Given the description of an element on the screen output the (x, y) to click on. 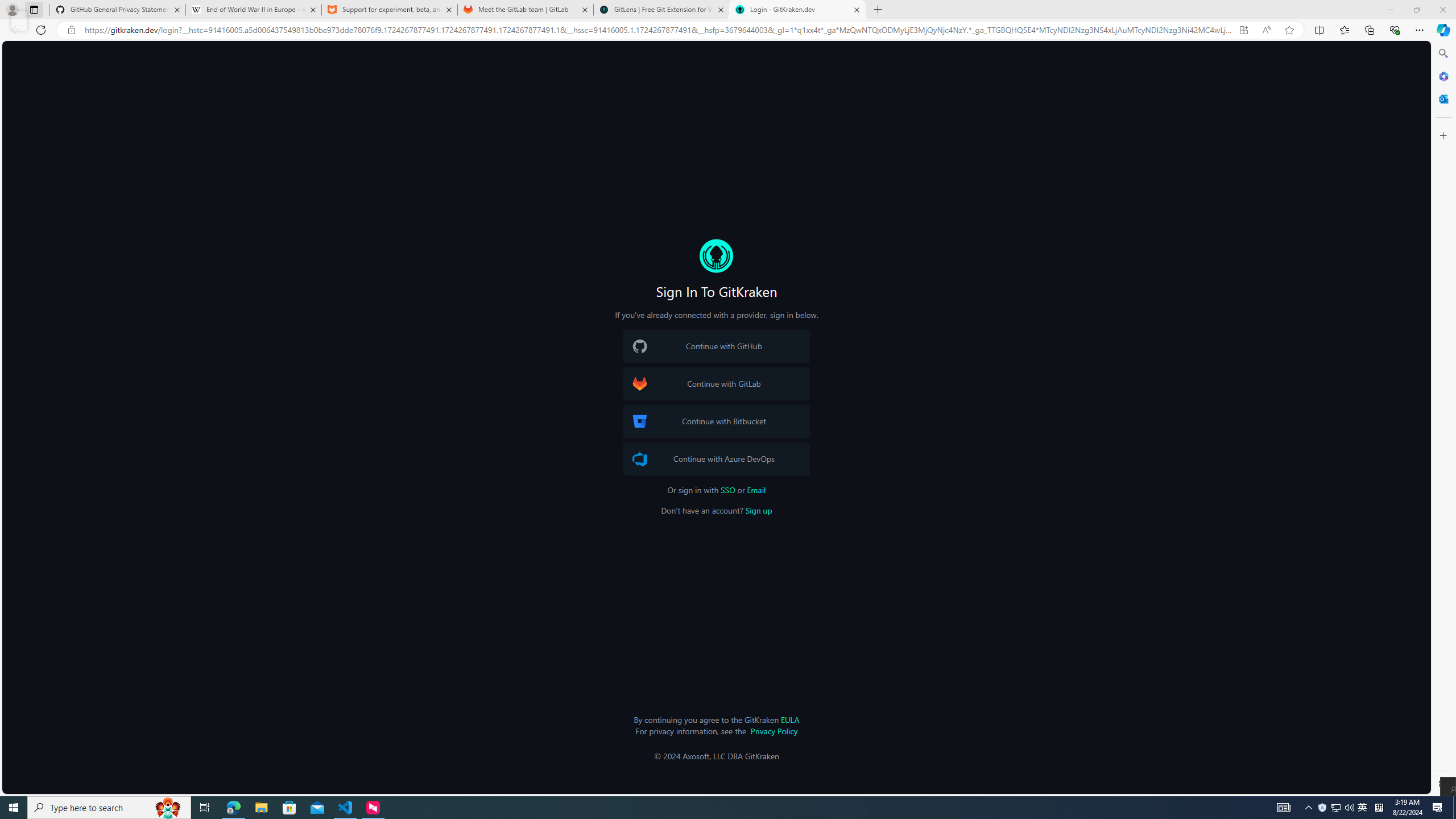
Privacy Policy (773, 730)
GitLab Logo (639, 383)
GitHub Logo Continue with GitHub (716, 346)
GitKraken (715, 255)
Login - GitKraken.dev (797, 9)
Email (755, 489)
Sign up (758, 510)
App available. Install GitKraken.dev (1243, 29)
